Given the description of an element on the screen output the (x, y) to click on. 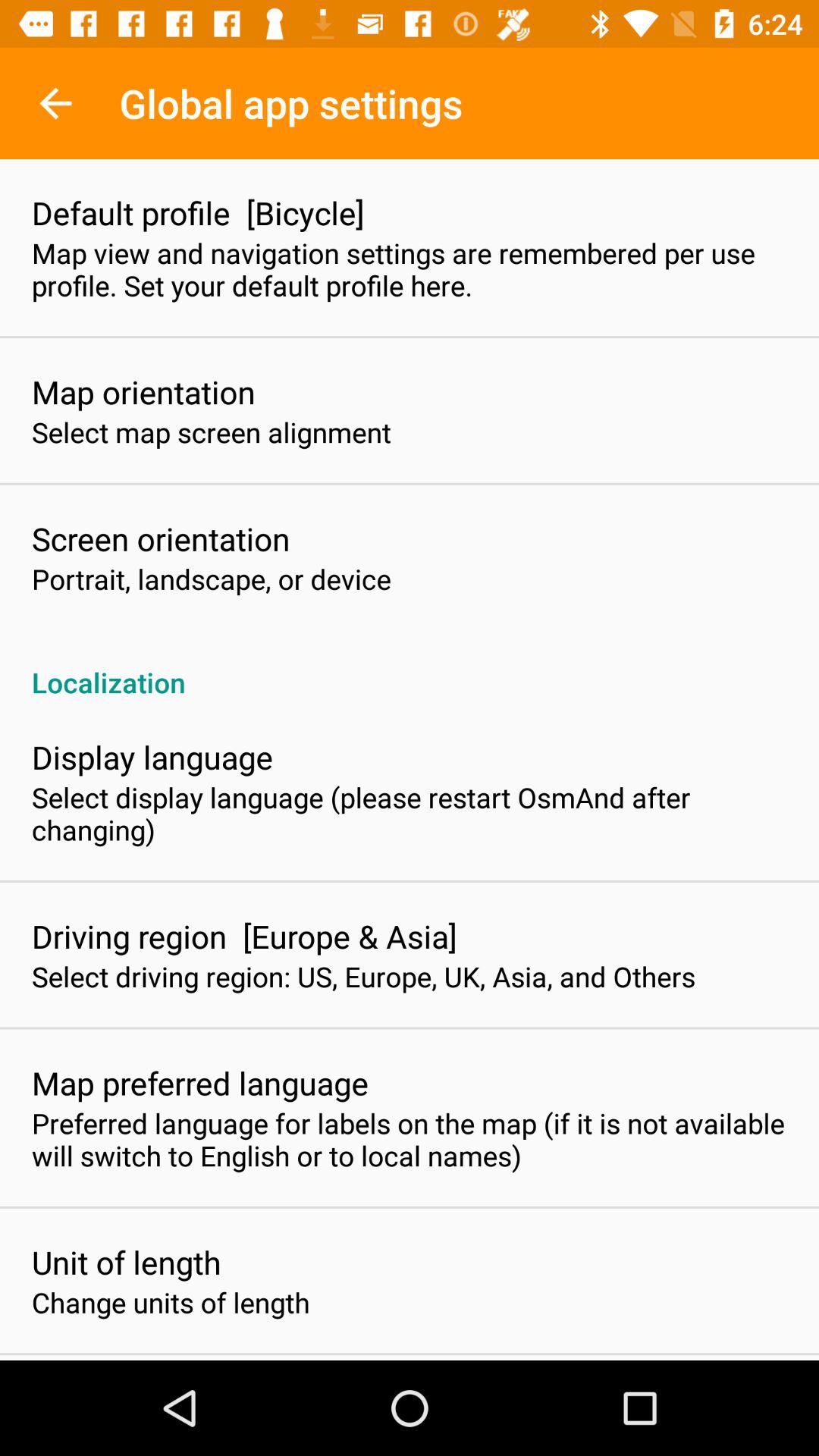
flip to select map screen (211, 432)
